Given the description of an element on the screen output the (x, y) to click on. 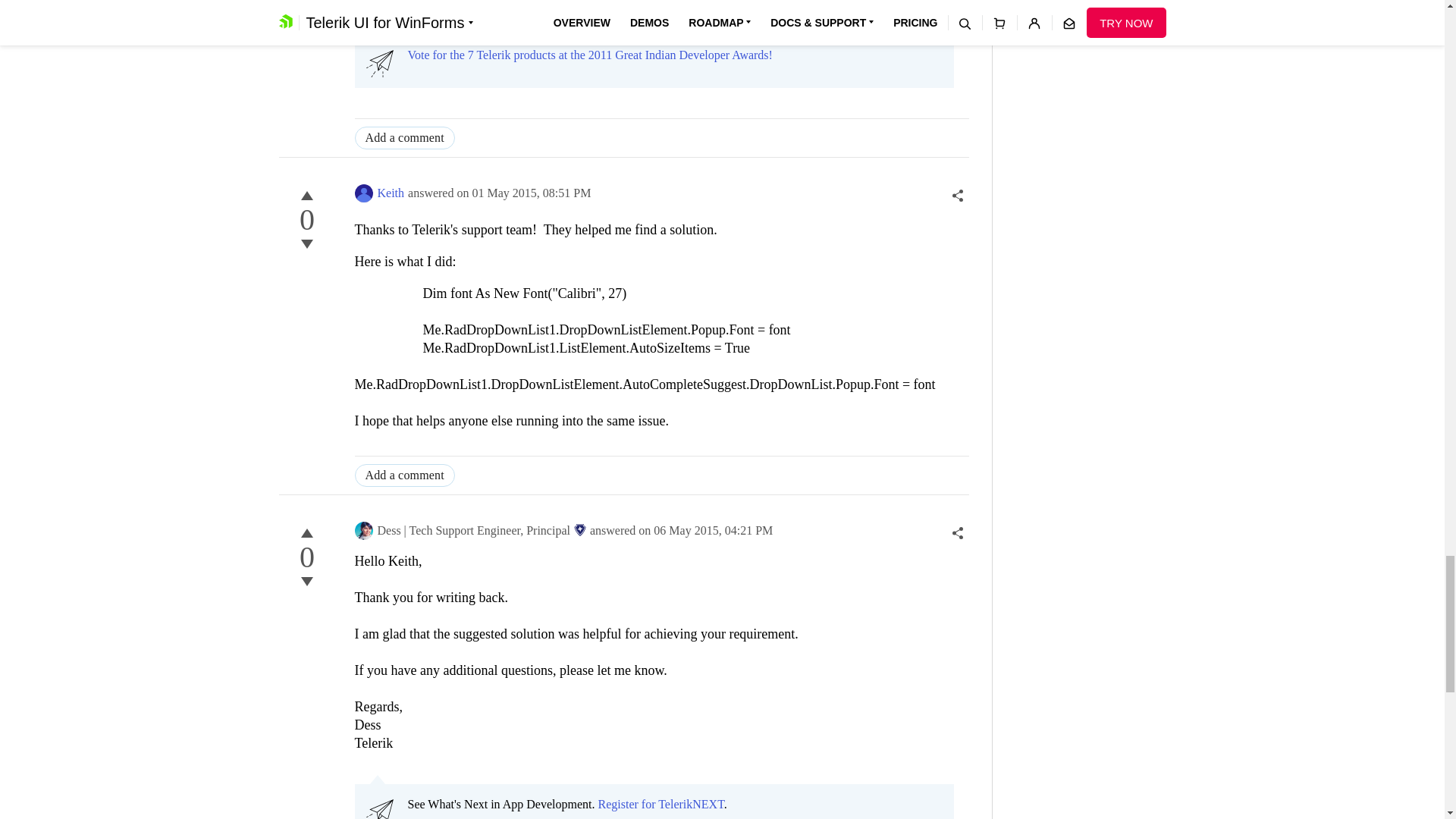
This answer is helpful. (306, 532)
This answer is helpful. (306, 195)
This answer is not helpful. (306, 243)
